Given the description of an element on the screen output the (x, y) to click on. 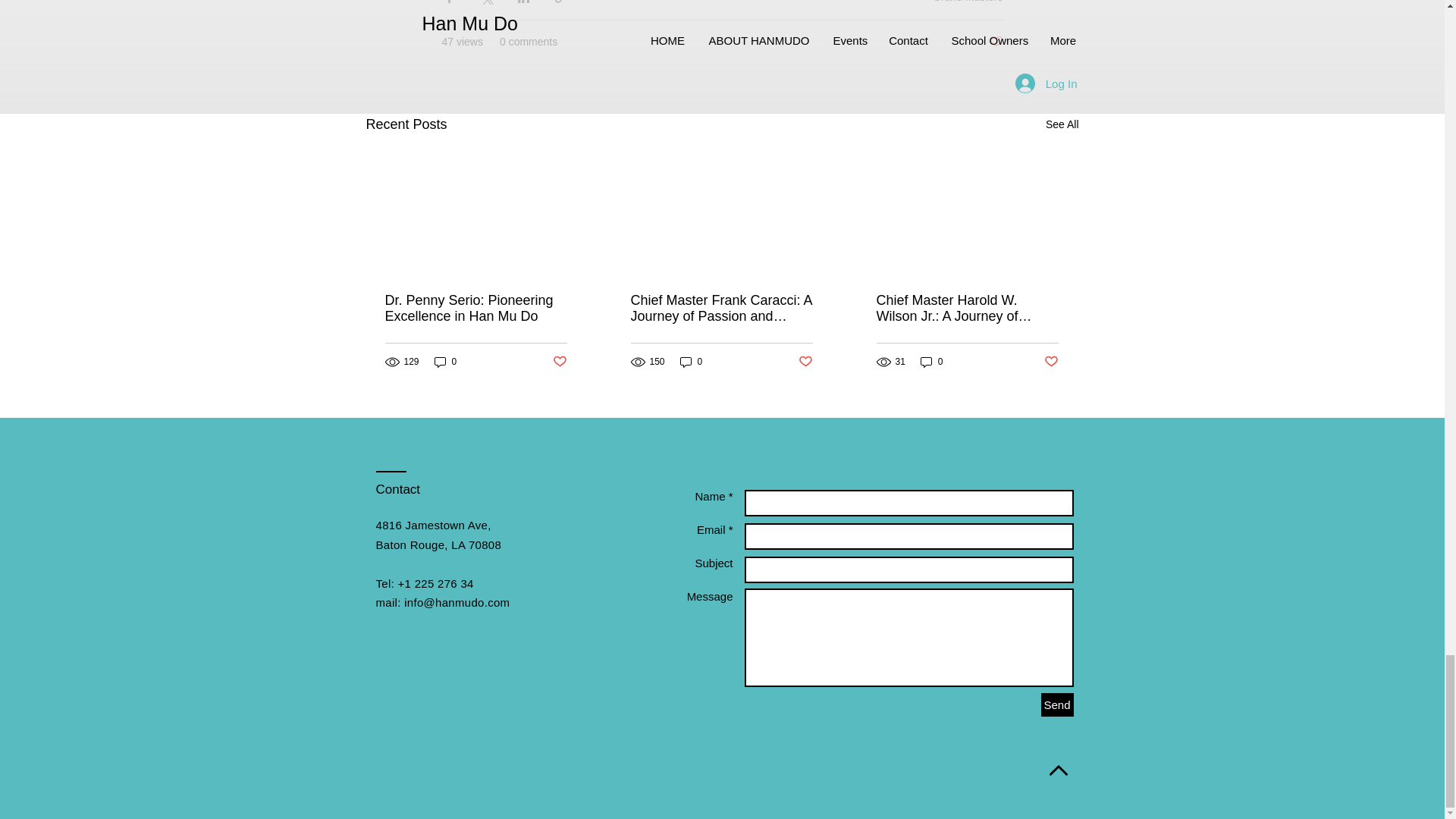
Send (1057, 704)
Post not marked as liked (1050, 361)
Post not marked as liked (995, 41)
Grand Masters (968, 1)
0 (445, 361)
Dr. Penny Serio: Pioneering Excellence in Han Mu Do (476, 308)
Post not marked as liked (804, 361)
0 (691, 361)
0 (931, 361)
See All (1061, 124)
Post not marked as liked (558, 361)
